Given the description of an element on the screen output the (x, y) to click on. 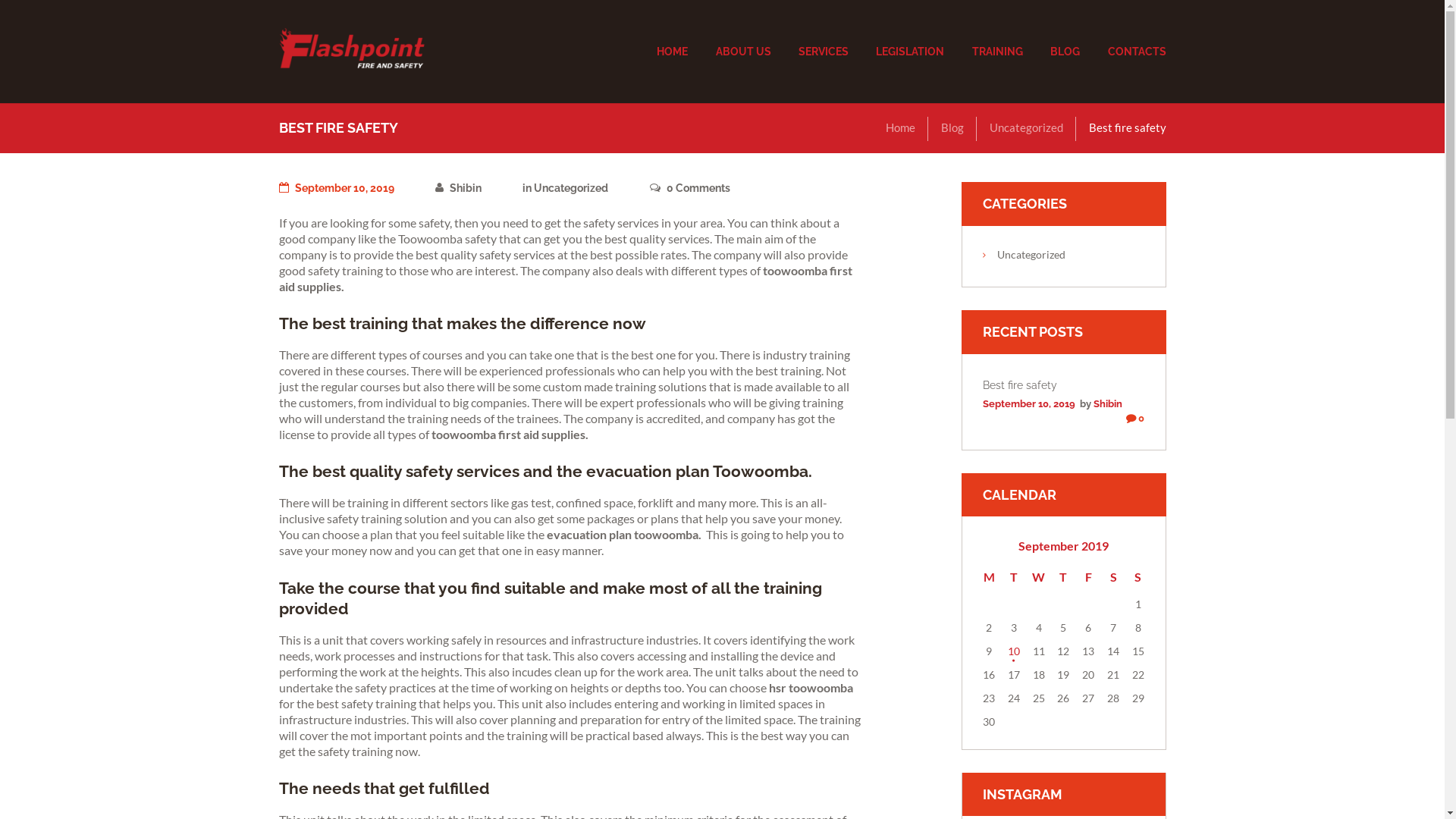
LEGISLATION Element type: text (909, 52)
Uncategorized Element type: text (1031, 253)
Shibin Element type: text (1107, 402)
September 2019 Element type: text (1063, 545)
Blog Element type: text (951, 127)
CONTACTS Element type: text (1129, 52)
Best fire safety Element type: text (1019, 383)
HOME Element type: text (672, 52)
Shibin Element type: text (458, 188)
SERVICES Element type: text (823, 52)
September 10, 2019 Element type: text (1028, 402)
Home Element type: text (900, 127)
10 Element type: text (1013, 650)
ABOUT US Element type: text (742, 52)
0 Element type: text (1135, 418)
TRAINING Element type: text (997, 52)
Uncategorized Element type: text (1025, 127)
0 Comments Element type: text (689, 188)
September 10, 2019 Element type: text (336, 188)
BLOG Element type: text (1064, 52)
Uncategorized Element type: text (570, 188)
